Given the description of an element on the screen output the (x, y) to click on. 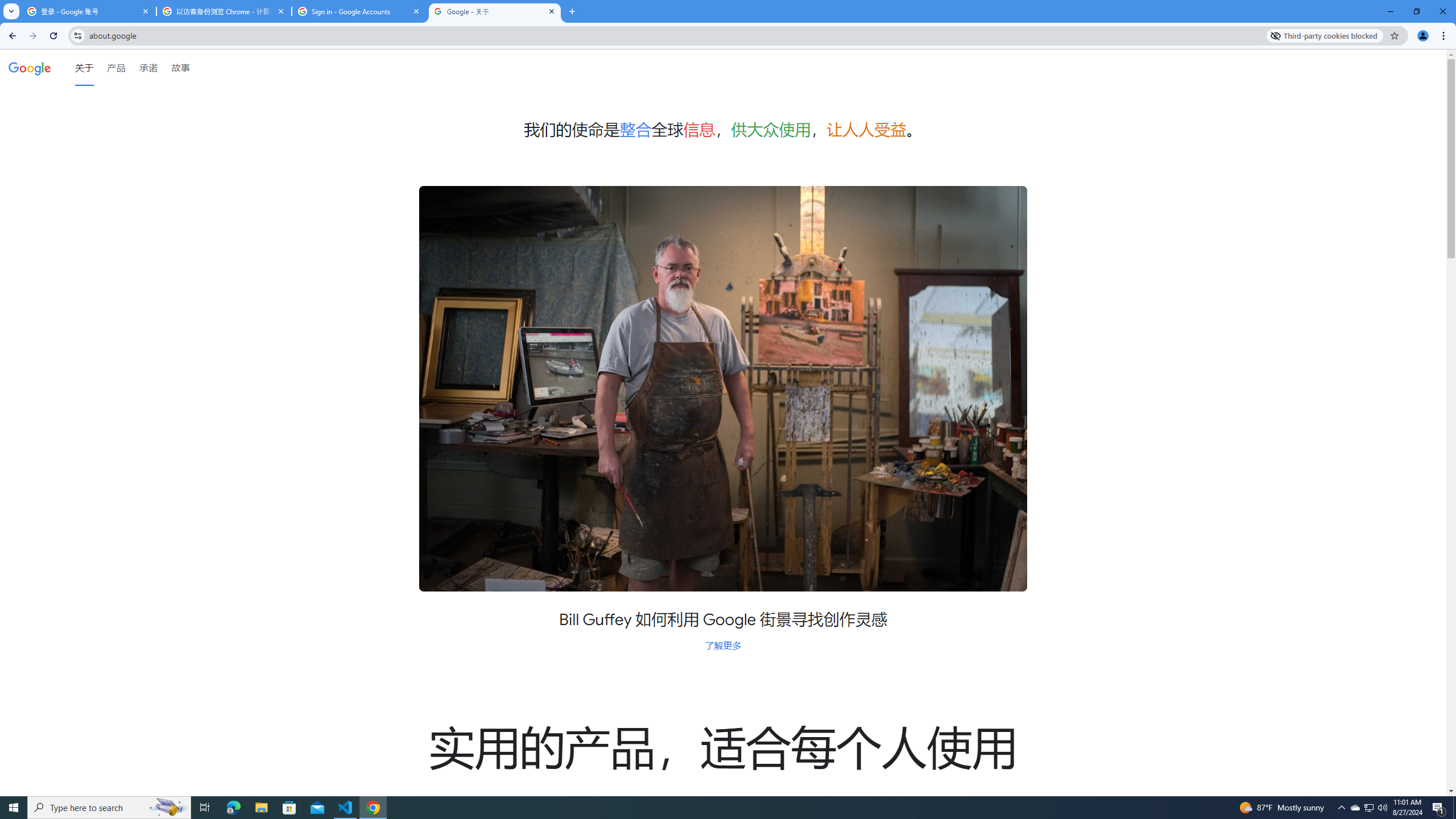
Google (29, 67)
